Given the description of an element on the screen output the (x, y) to click on. 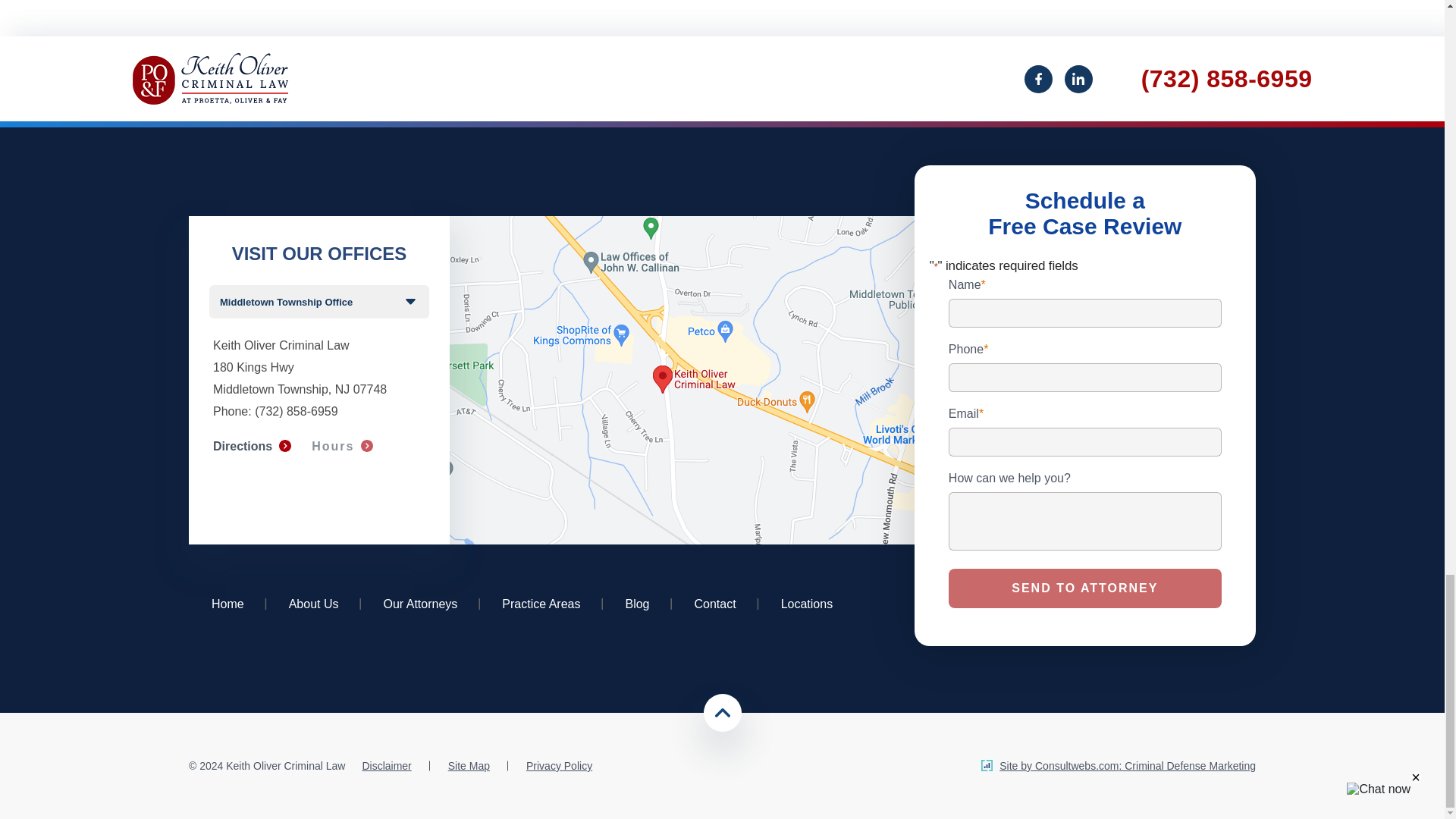
Send to Attorney (1085, 588)
